Given the description of an element on the screen output the (x, y) to click on. 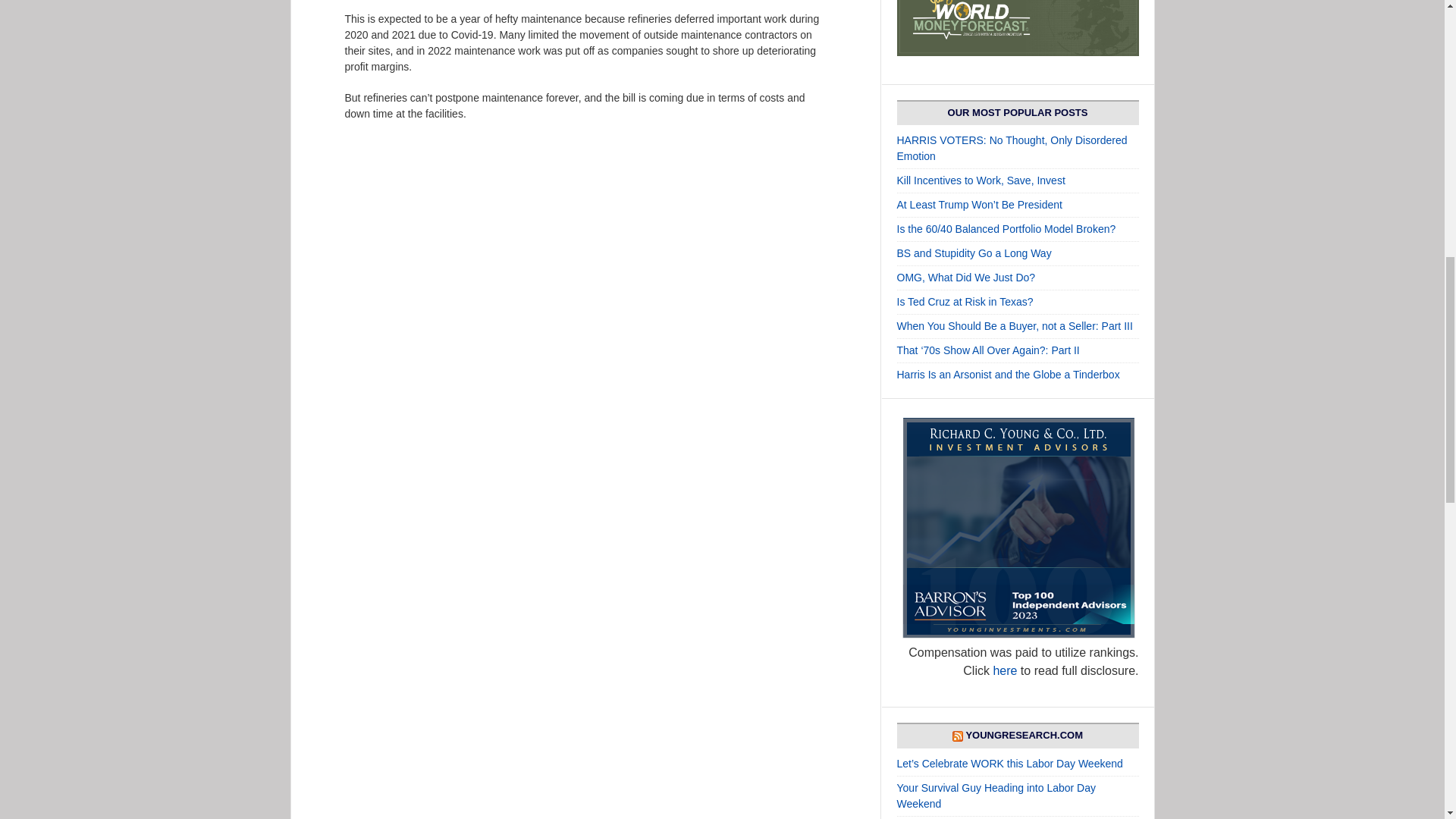
YouTube video player (526, 723)
YouTube video player (526, 260)
YouTube video player (526, 504)
